Given the description of an element on the screen output the (x, y) to click on. 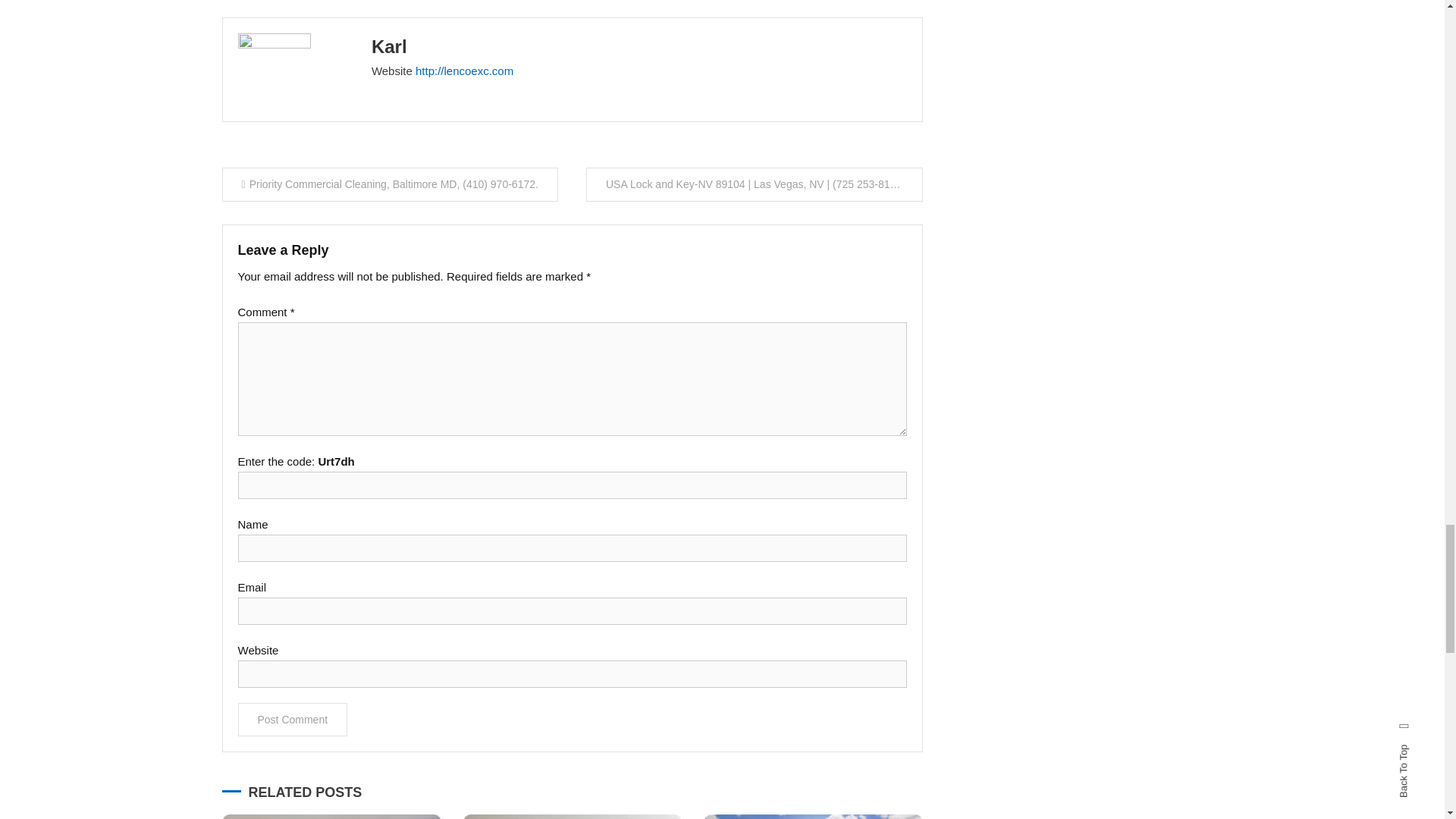
Post Comment (292, 719)
Posts by Karl (389, 46)
